Given the description of an element on the screen output the (x, y) to click on. 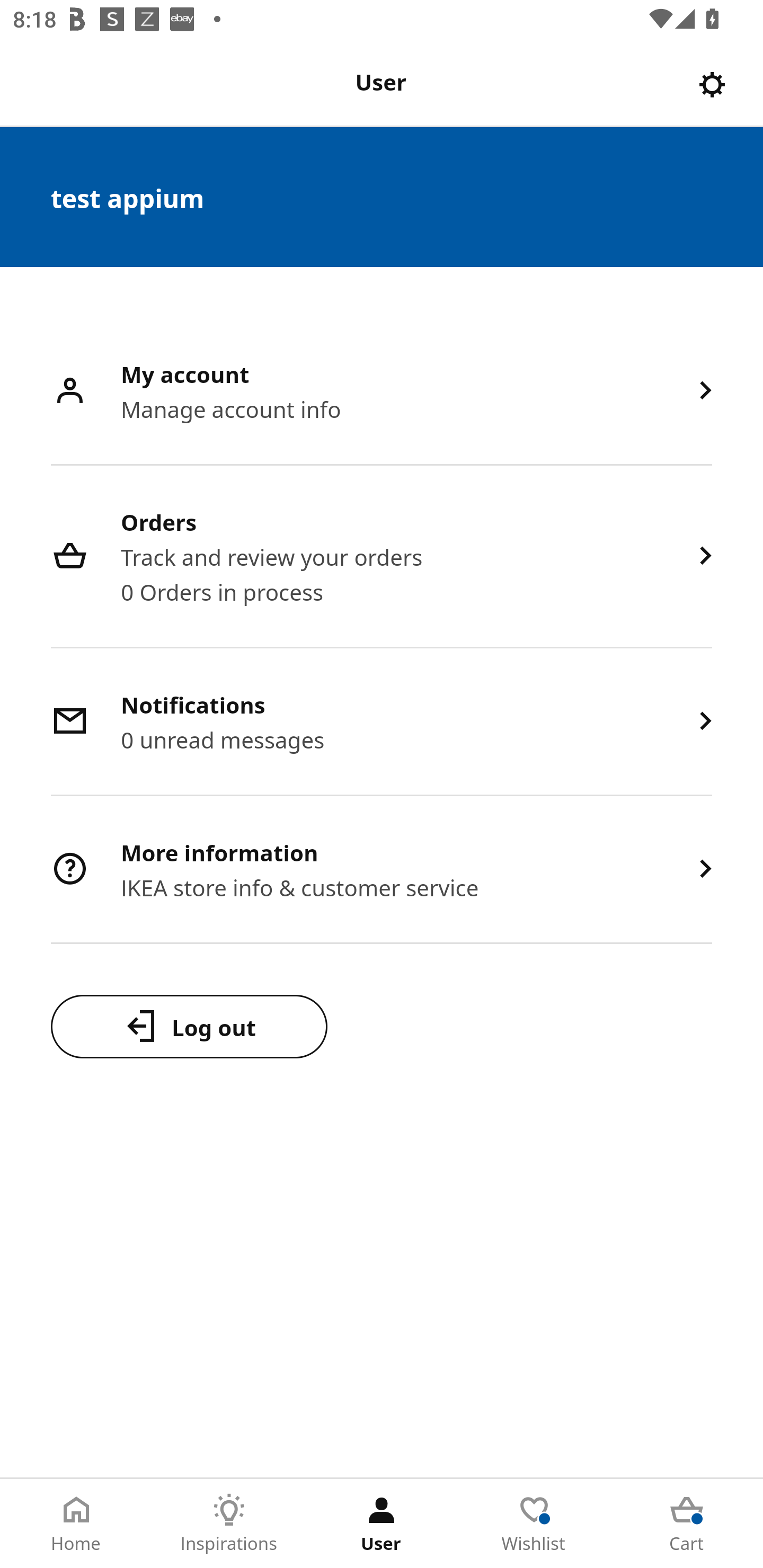
My account
Manage account info (381, 391)
Notifications
0 unread messages (381, 722)
Log out (189, 1026)
Home
Tab 1 of 5 (76, 1522)
Inspirations
Tab 2 of 5 (228, 1522)
User
Tab 3 of 5 (381, 1522)
Wishlist
Tab 4 of 5 (533, 1522)
Cart
Tab 5 of 5 (686, 1522)
